Given the description of an element on the screen output the (x, y) to click on. 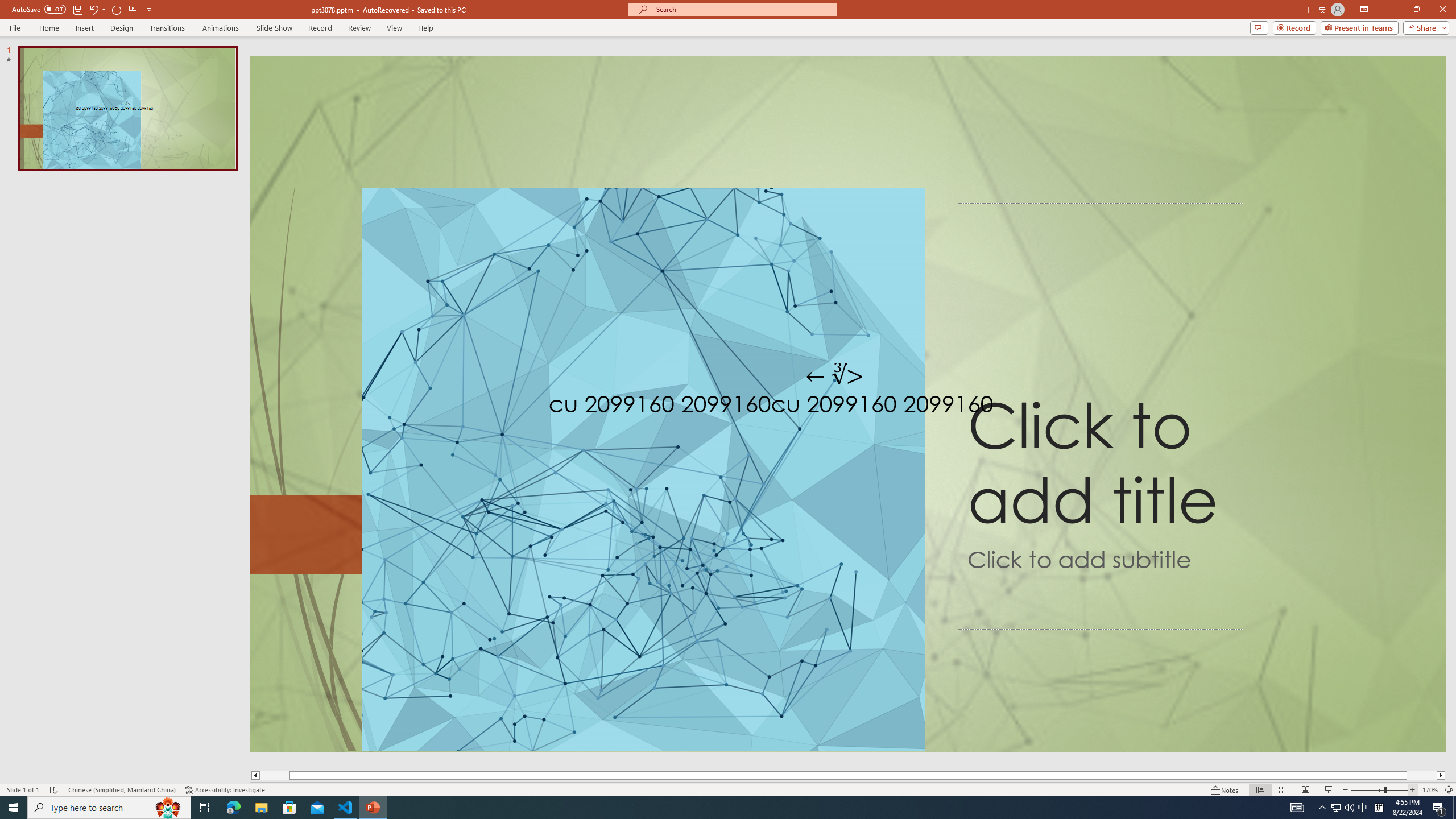
Transitions (167, 28)
Spell Check No Errors (54, 790)
Record (1294, 27)
Restore Down (1416, 9)
Comments (1259, 27)
AutoSave (38, 9)
Help (425, 28)
Slide Show (273, 28)
Slide Show (1328, 790)
More Options (103, 9)
Zoom 170% (1430, 790)
Redo (117, 9)
